Given the description of an element on the screen output the (x, y) to click on. 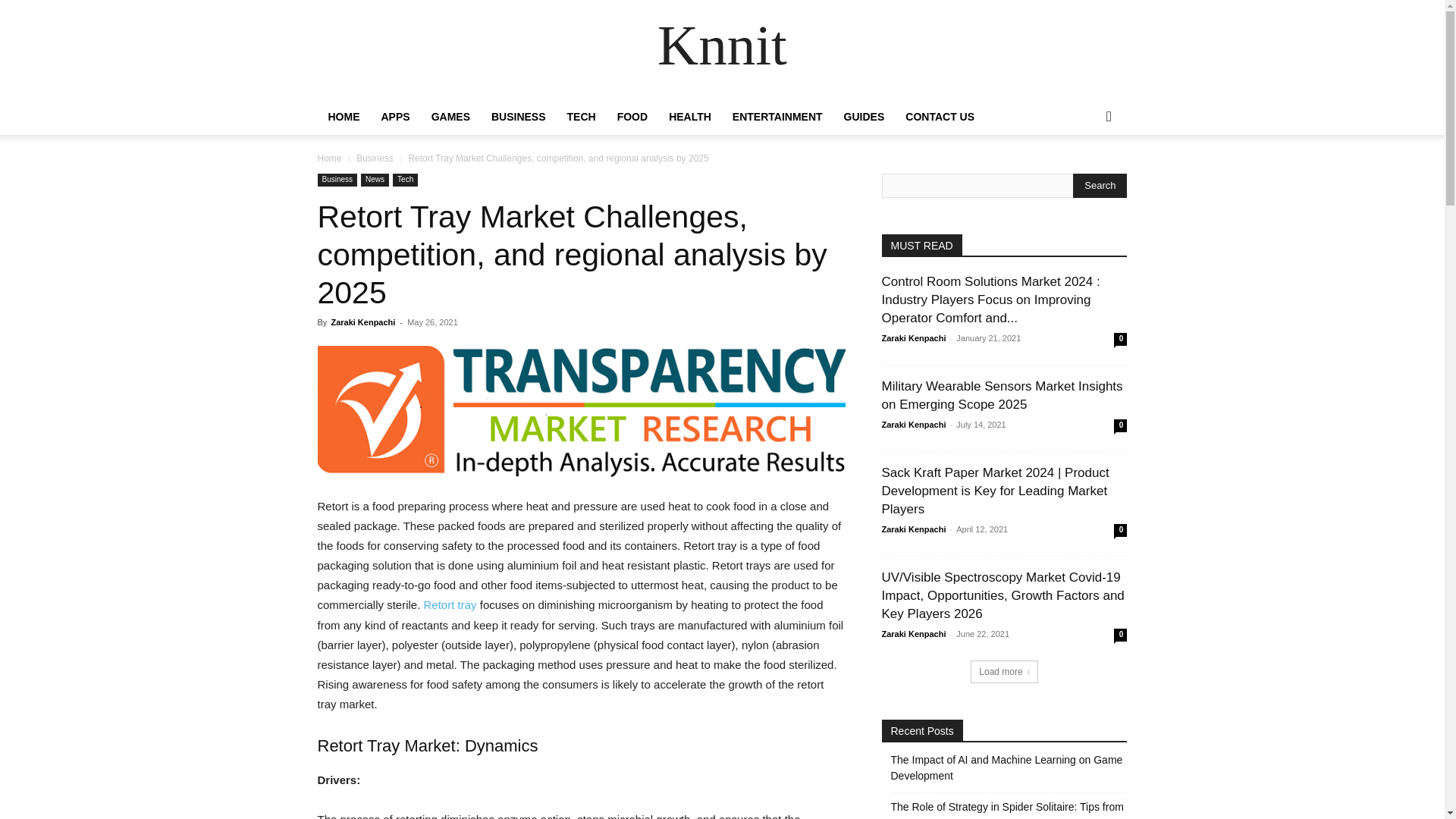
Tmr (580, 410)
Business (374, 158)
HEALTH (690, 116)
Home (328, 158)
HOME (343, 116)
Zaraki Kenpachi (362, 321)
News (374, 179)
Search (1099, 185)
GAMES (450, 116)
